Given the description of an element on the screen output the (x, y) to click on. 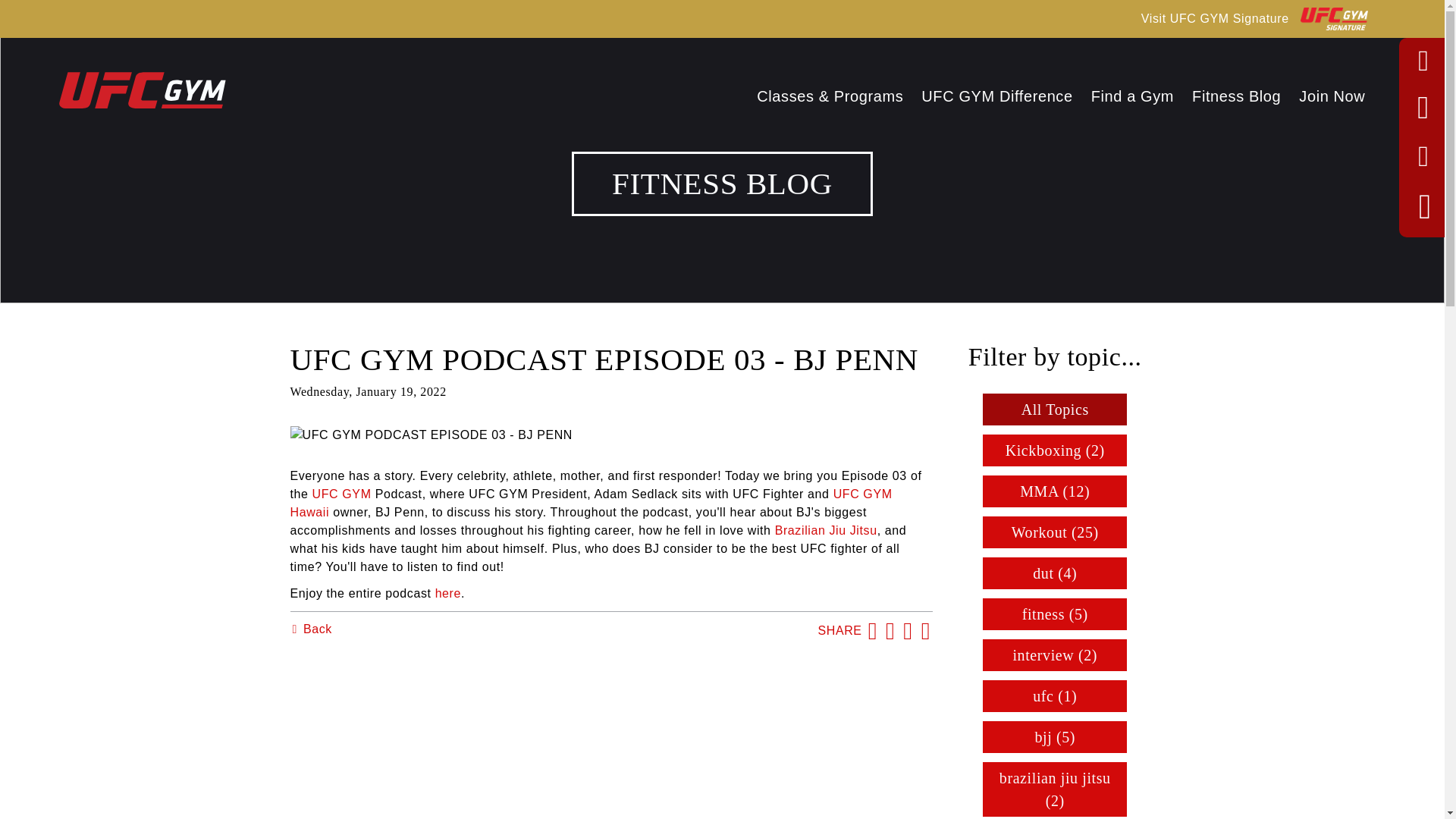
Brazilian Jiu Jitsu (825, 530)
Filter articles by interview (1054, 654)
Filter articles by bjj (1054, 736)
UFC GYM  (344, 493)
Find a Gym near you (1131, 95)
here (448, 593)
UFC GYM Hawaii (590, 502)
Filter articles by brazilian jiu jitsu (1054, 789)
Filter articles by fitness (1054, 613)
Visit UFC GYM Signature (1254, 17)
